Given the description of an element on the screen output the (x, y) to click on. 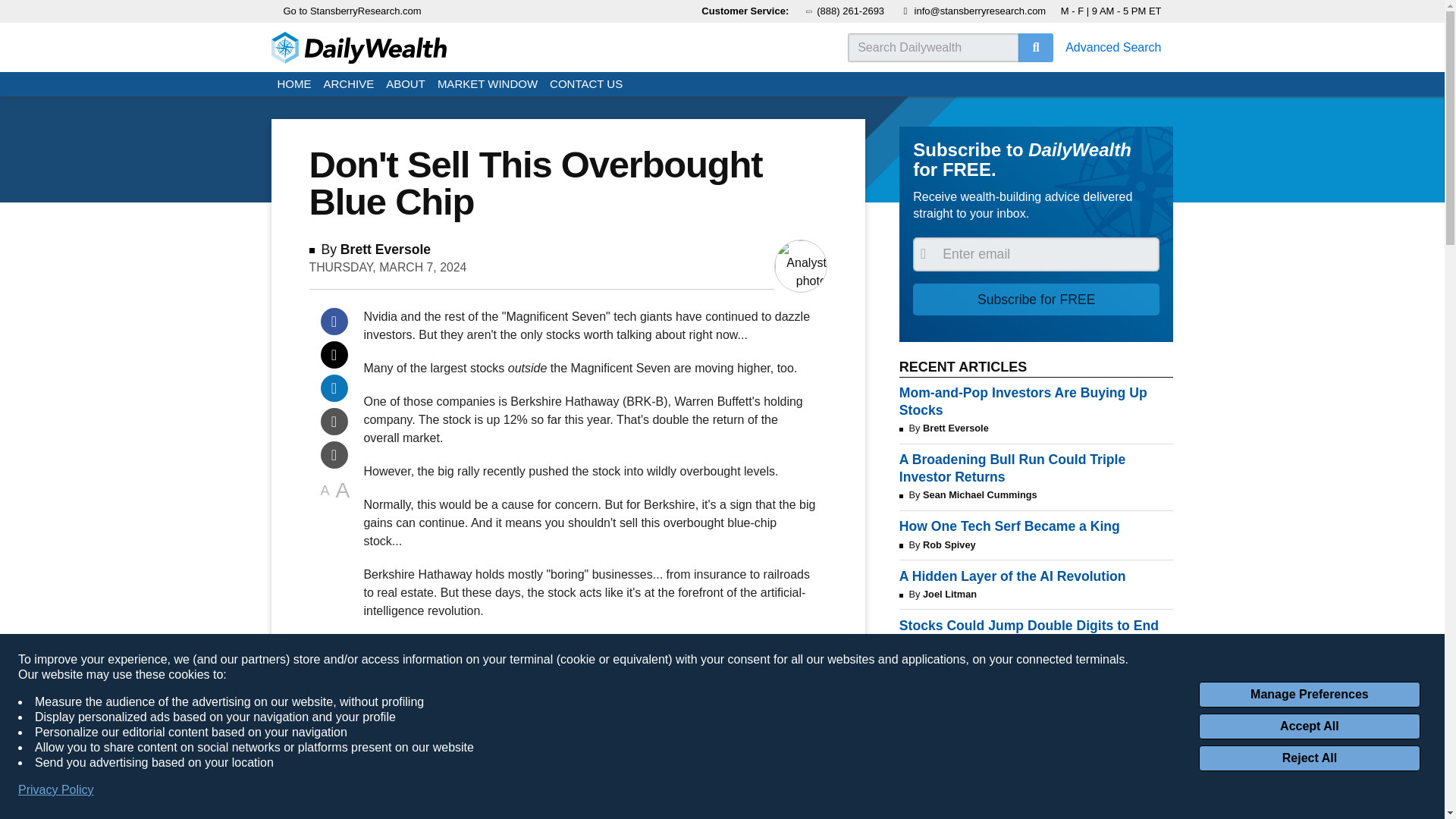
Mom-and-Pop Investors Are Buying Up Stocks (1036, 401)
CONTACT US (585, 84)
Manage Preferences (1309, 694)
Subscribe for FREE (1035, 299)
Go to StansberryResearch.com (352, 11)
A (324, 490)
ABOUT (405, 84)
HOME (293, 84)
MARKET WINDOW (486, 84)
ARCHIVE (348, 84)
Advanced Search (1112, 46)
Privacy Policy (55, 789)
Reject All (1309, 758)
Accept All (1309, 726)
A (343, 490)
